Given the description of an element on the screen output the (x, y) to click on. 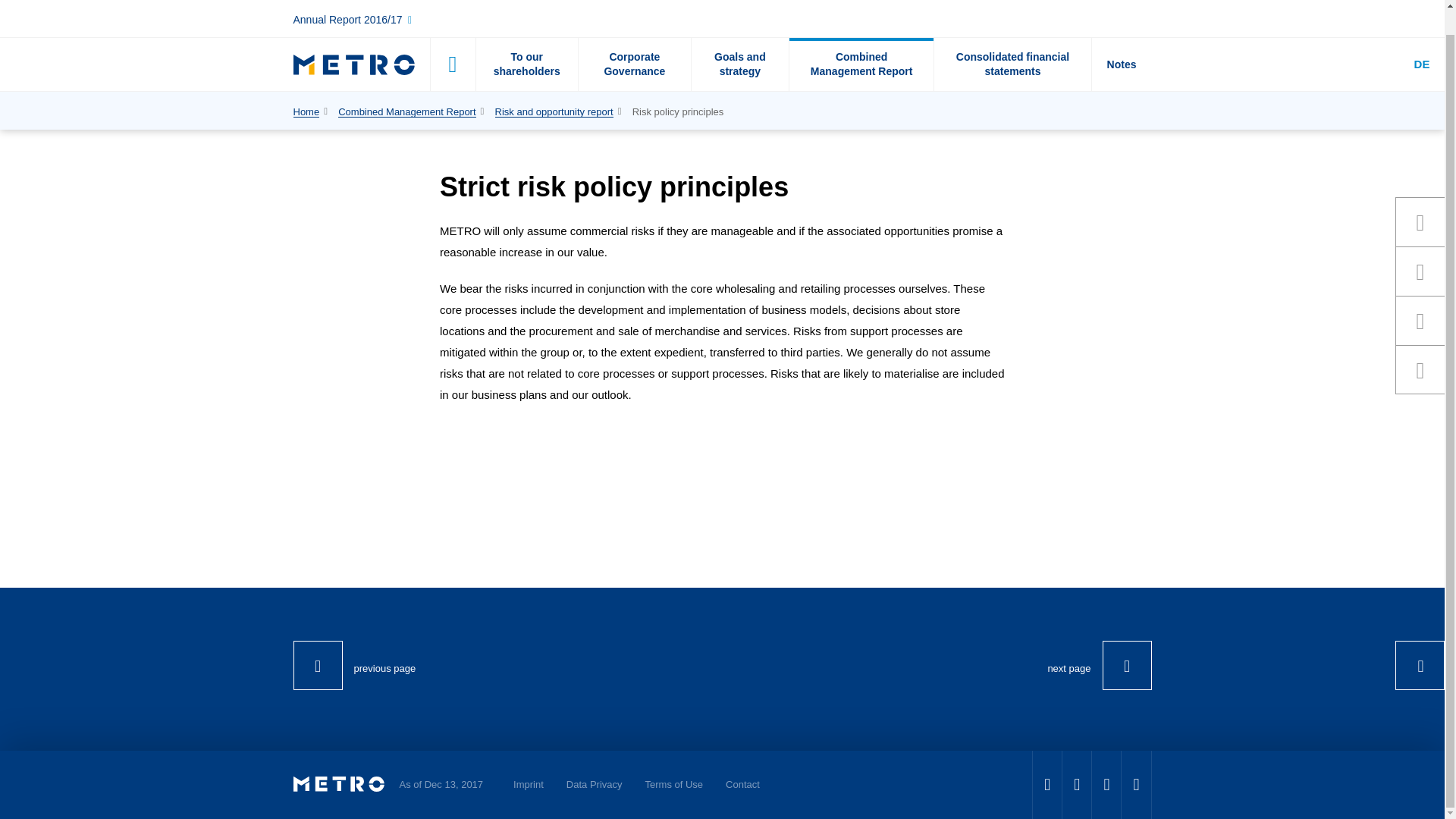
next page: Risk management details clearly defined (1098, 665)
To our shareholders (525, 39)
Corporate Governance (634, 39)
Goals and strategy (739, 39)
Combined Management Report (861, 39)
submit (451, 40)
DE (1421, 38)
previous page: Risk and opportunity management system (353, 665)
